Given the description of an element on the screen output the (x, y) to click on. 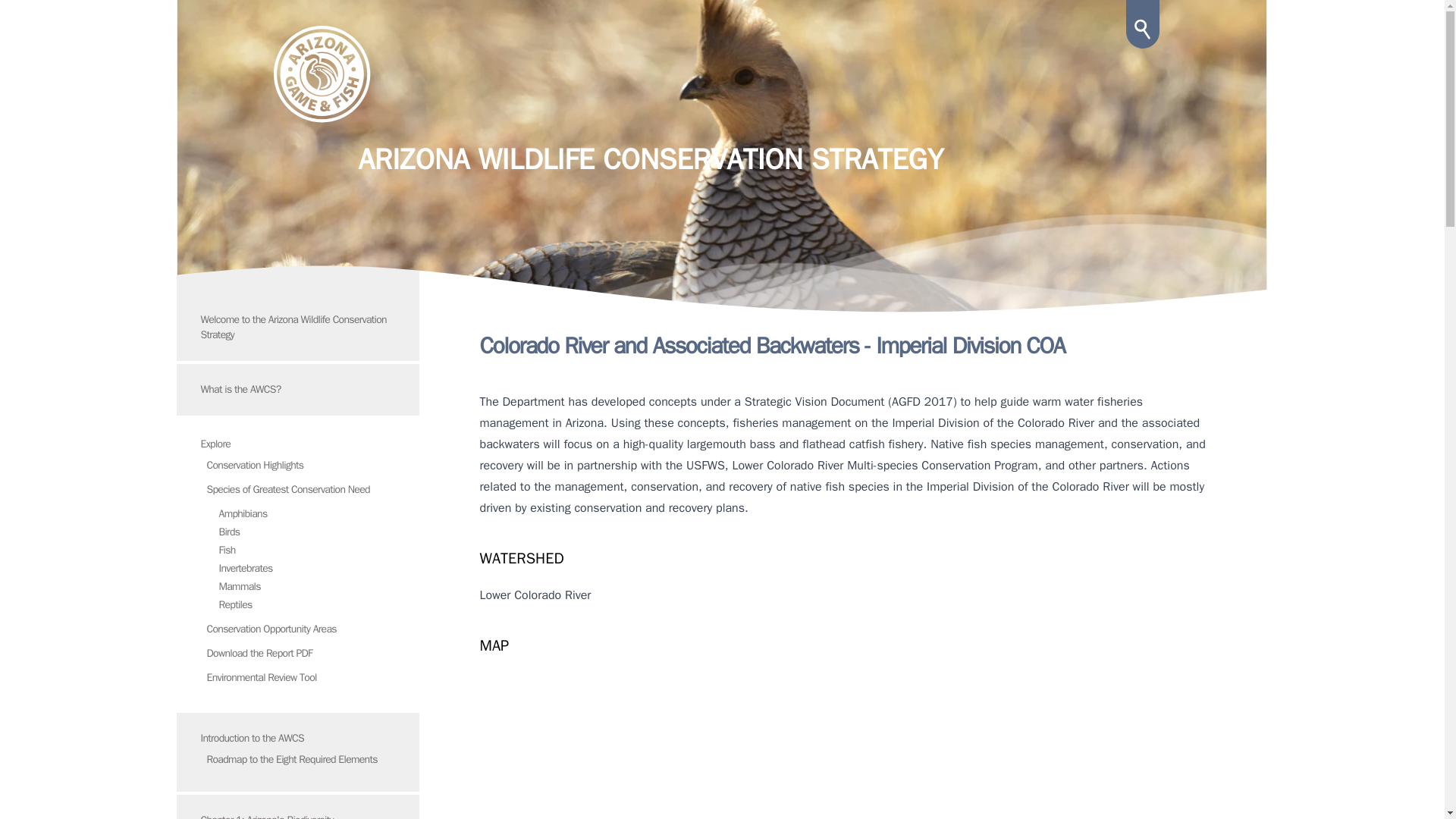
Roadmap to the Eight Required Elements (279, 758)
Download the Report PDF (247, 653)
Conservation Opportunity Areas (259, 628)
Birds (229, 531)
Mammals (239, 585)
What is the AWCS? (228, 389)
Welcome to the Arizona Wildlife Conservation Strategy (280, 326)
Fish (226, 549)
Introduction to the AWCS (239, 738)
Reptiles (234, 604)
